Given the description of an element on the screen output the (x, y) to click on. 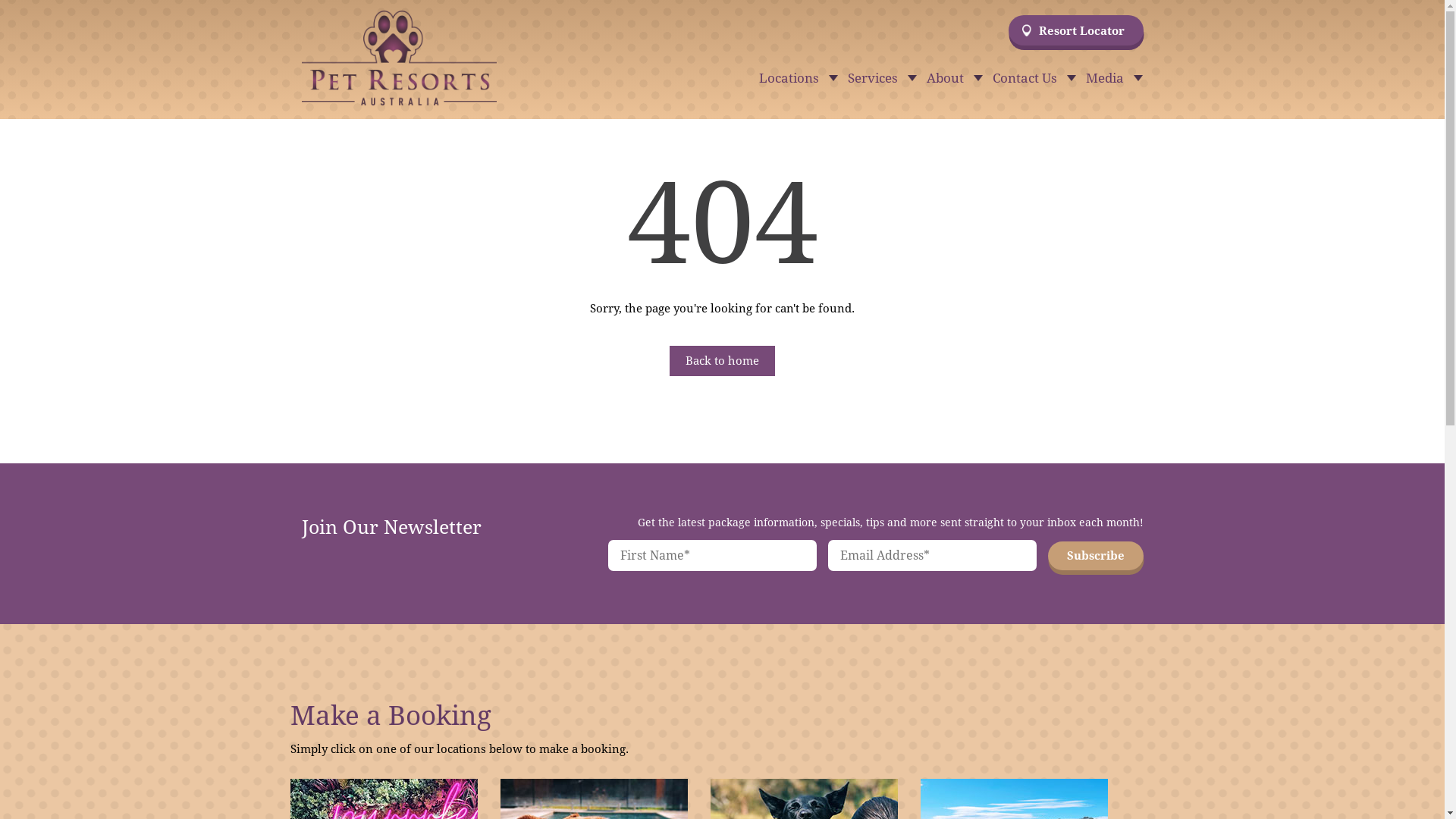
Resort Locator Element type: text (1075, 30)
Services Element type: text (879, 79)
Locations Element type: text (794, 79)
Contact Us Element type: text (1030, 79)
Media Element type: text (1111, 79)
Back to home Element type: text (722, 360)
Subscribe Element type: text (1095, 555)
About Element type: text (951, 79)
